Given the description of an element on the screen output the (x, y) to click on. 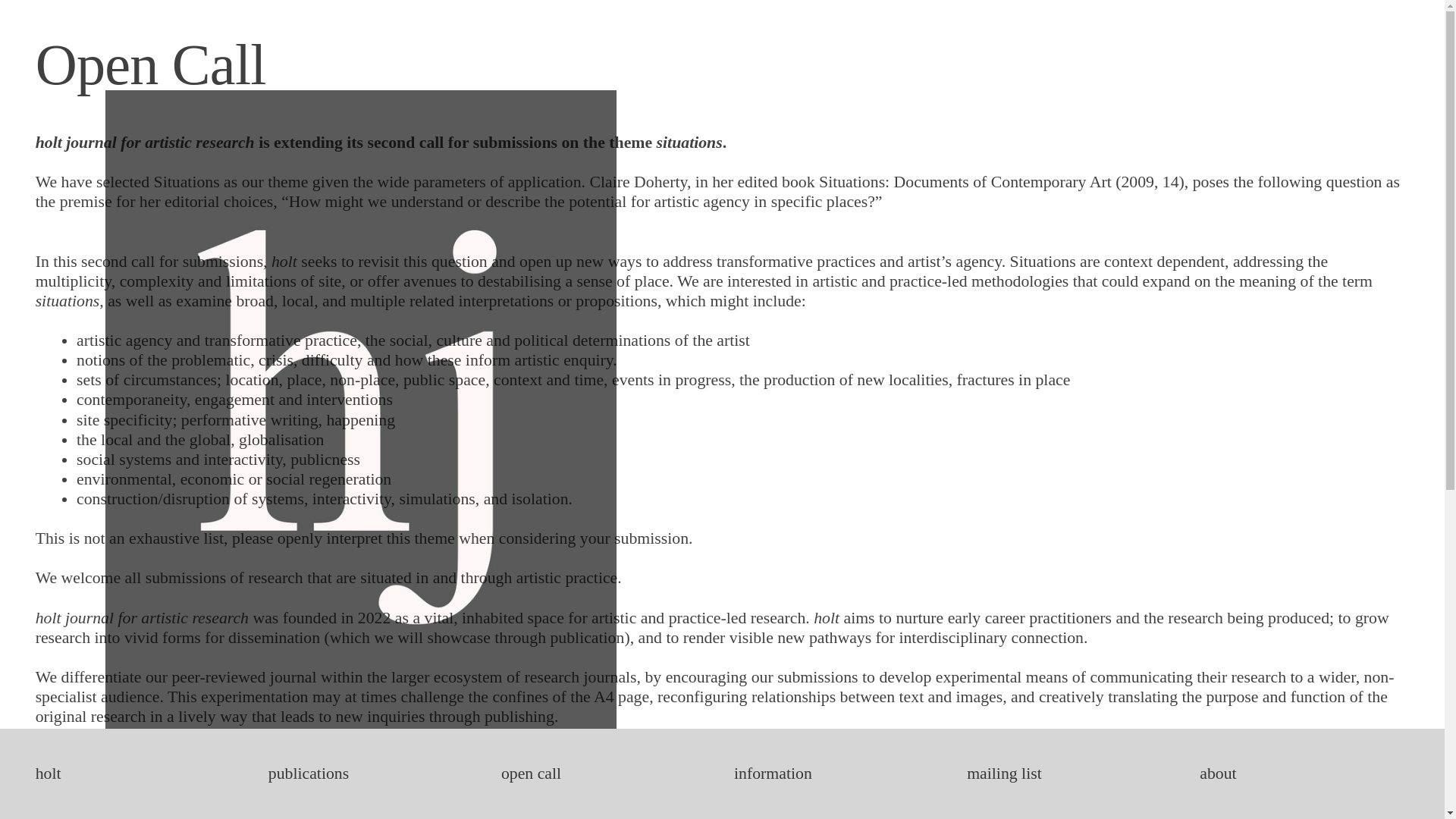
ailing list (1010, 773)
holt (47, 773)
pen call (534, 773)
nformation (775, 773)
ublications (312, 773)
bout (1221, 773)
